Given the description of an element on the screen output the (x, y) to click on. 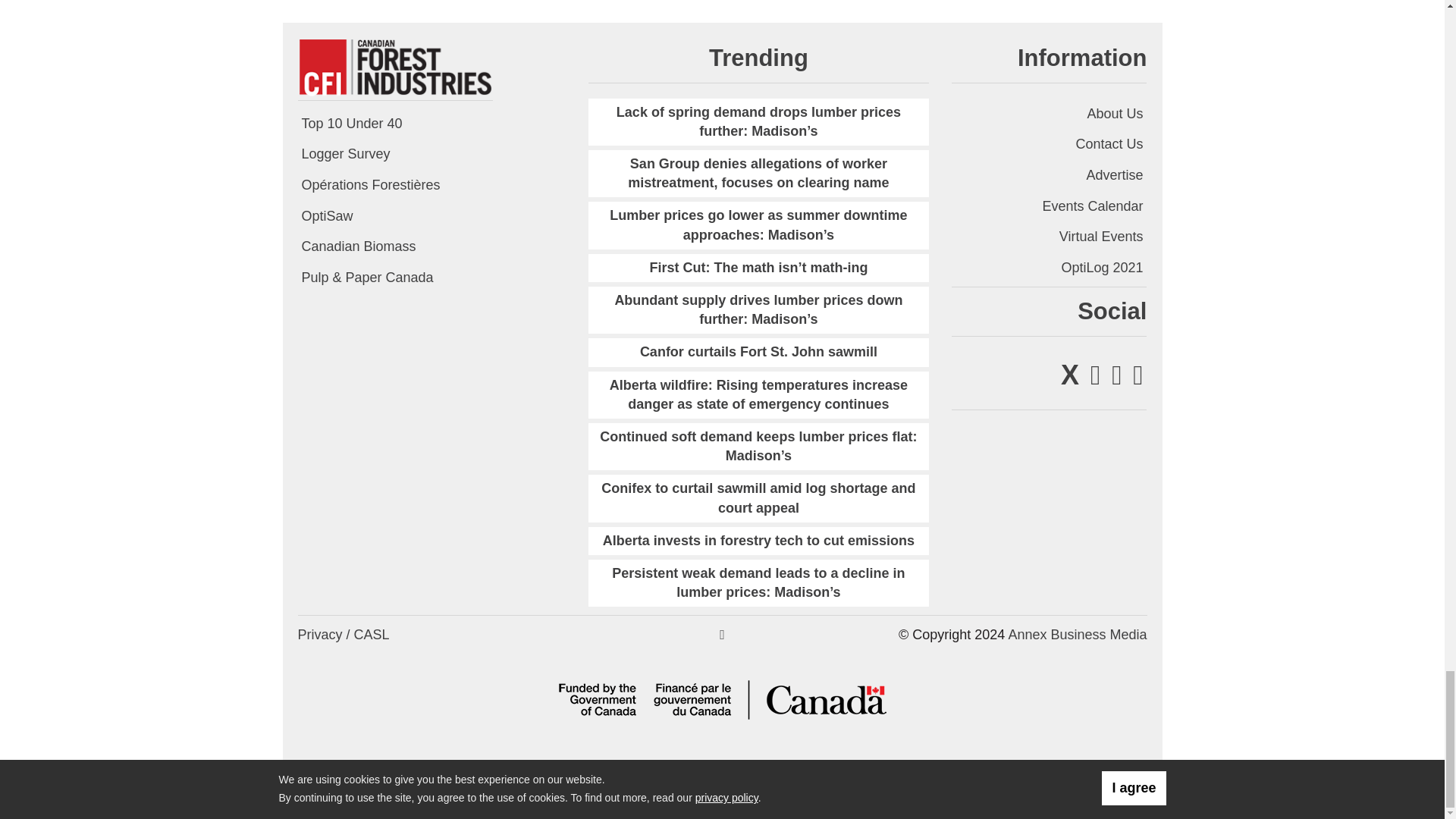
Annex Business Media (1077, 634)
Wood Business (395, 65)
